Given the description of an element on the screen output the (x, y) to click on. 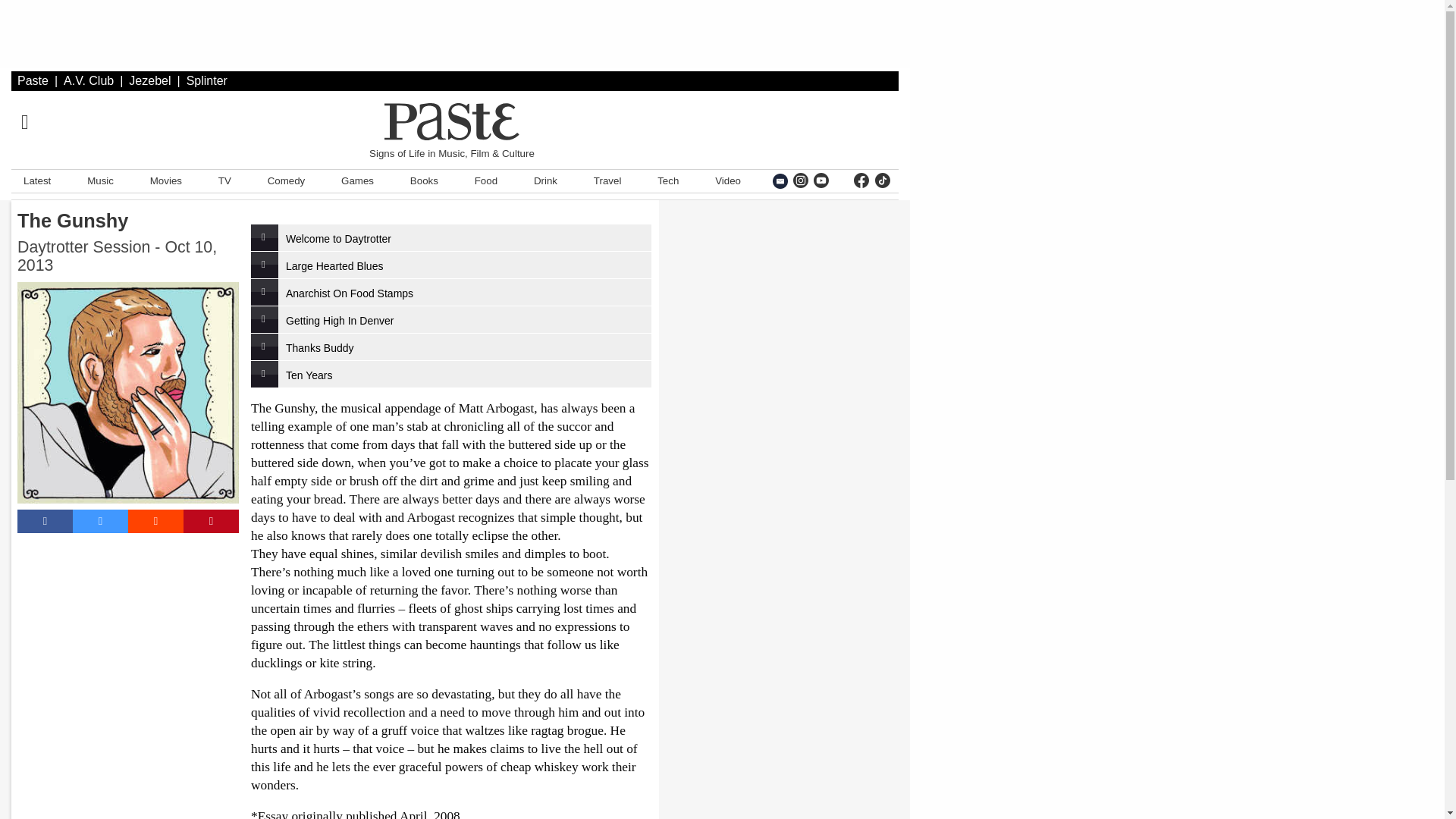
Ten Years (450, 374)
Latest (36, 180)
Food (485, 180)
Video (727, 180)
Jezebel (149, 80)
Paste (32, 80)
A.V. Club (88, 80)
Anarchist On Food Stamps (450, 292)
Large Hearted Blues (450, 264)
Tech (667, 180)
